Given the description of an element on the screen output the (x, y) to click on. 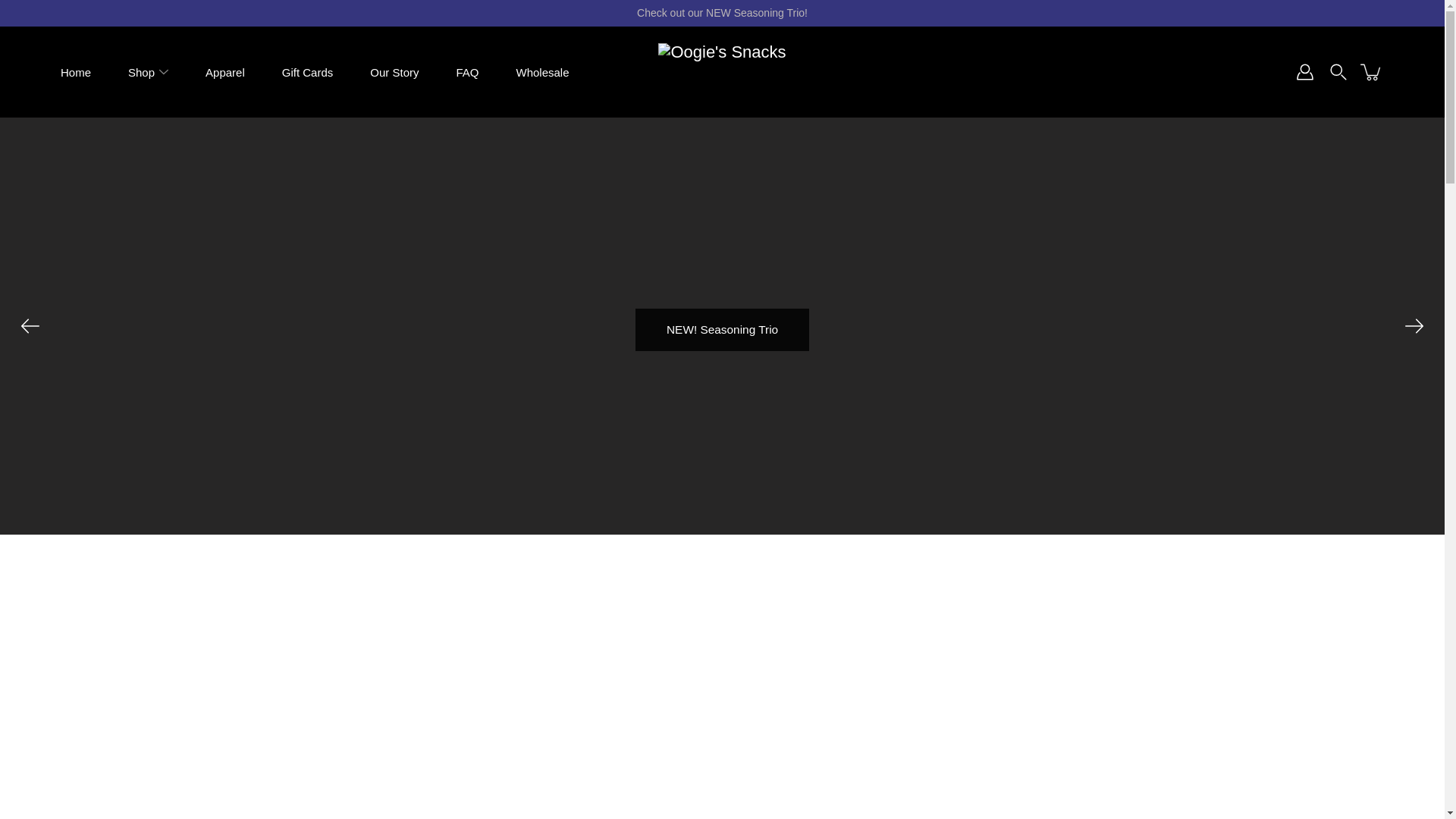
Home (75, 71)
NEW! Oogie's Seasoning Trio (183, 680)
Apparel (224, 71)
Wholesale (542, 71)
NEW! Seasoning Trio (721, 329)
Check out our NEW Seasoning Trio! (721, 12)
FAQ (467, 71)
Gift Cards (307, 71)
Shop (141, 71)
Our Story (394, 71)
